Given the description of an element on the screen output the (x, y) to click on. 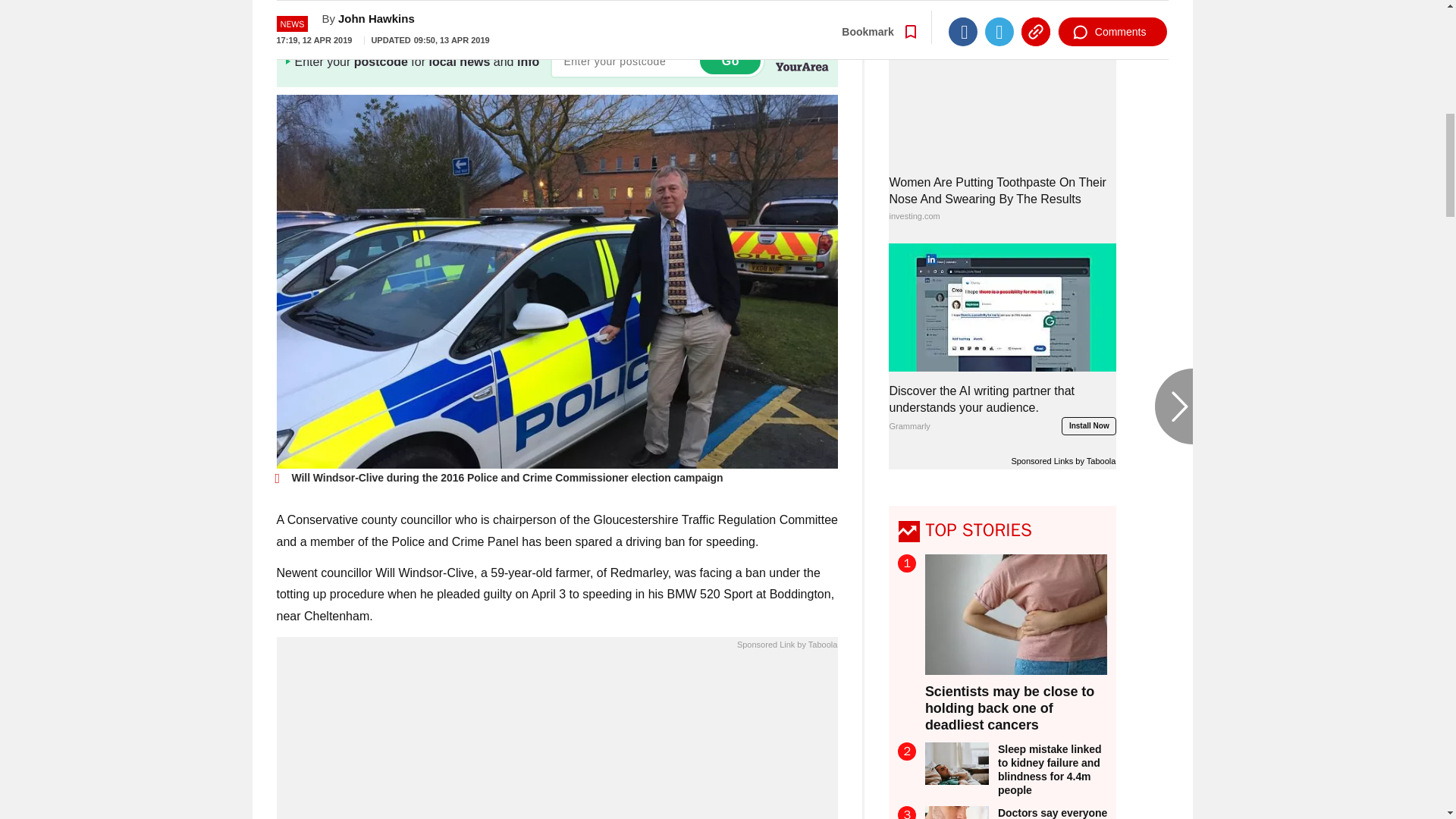
Twitter (999, 2)
Comments (1112, 2)
Facebook (962, 2)
Go (730, 60)
